Given the description of an element on the screen output the (x, y) to click on. 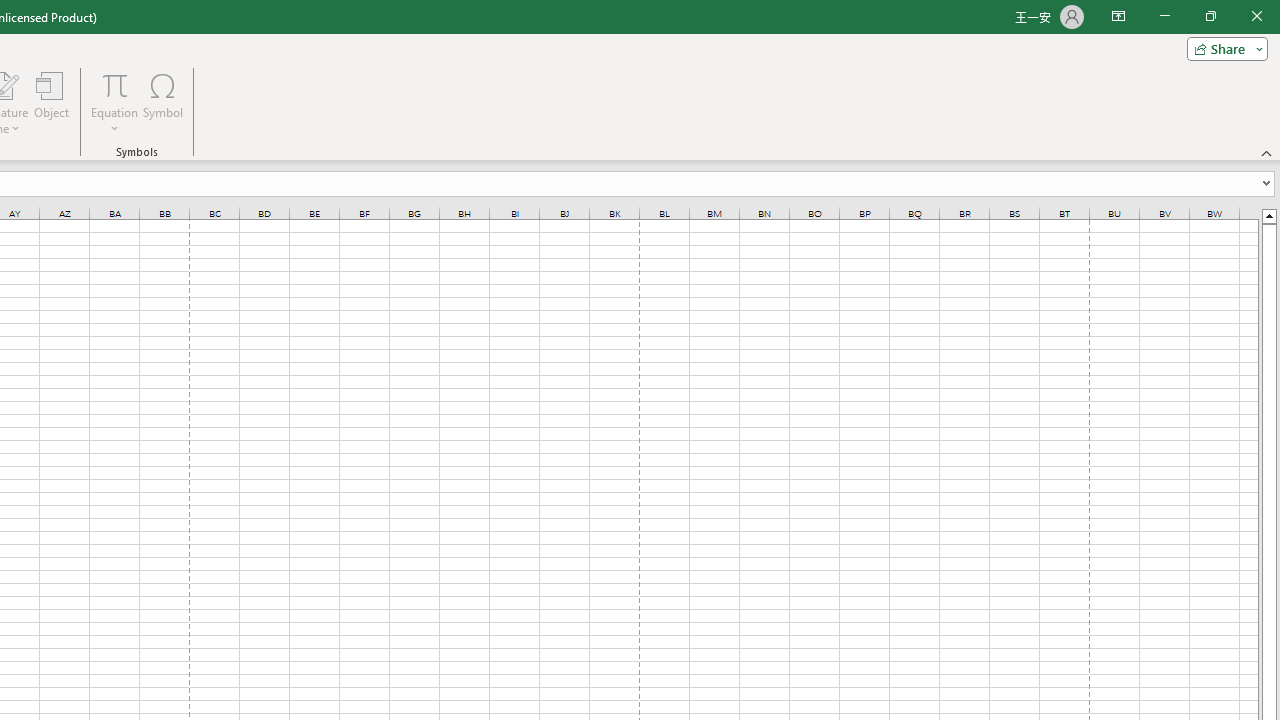
Equation (114, 102)
Equation (114, 84)
Object... (51, 102)
Symbol... (162, 102)
